Given the description of an element on the screen output the (x, y) to click on. 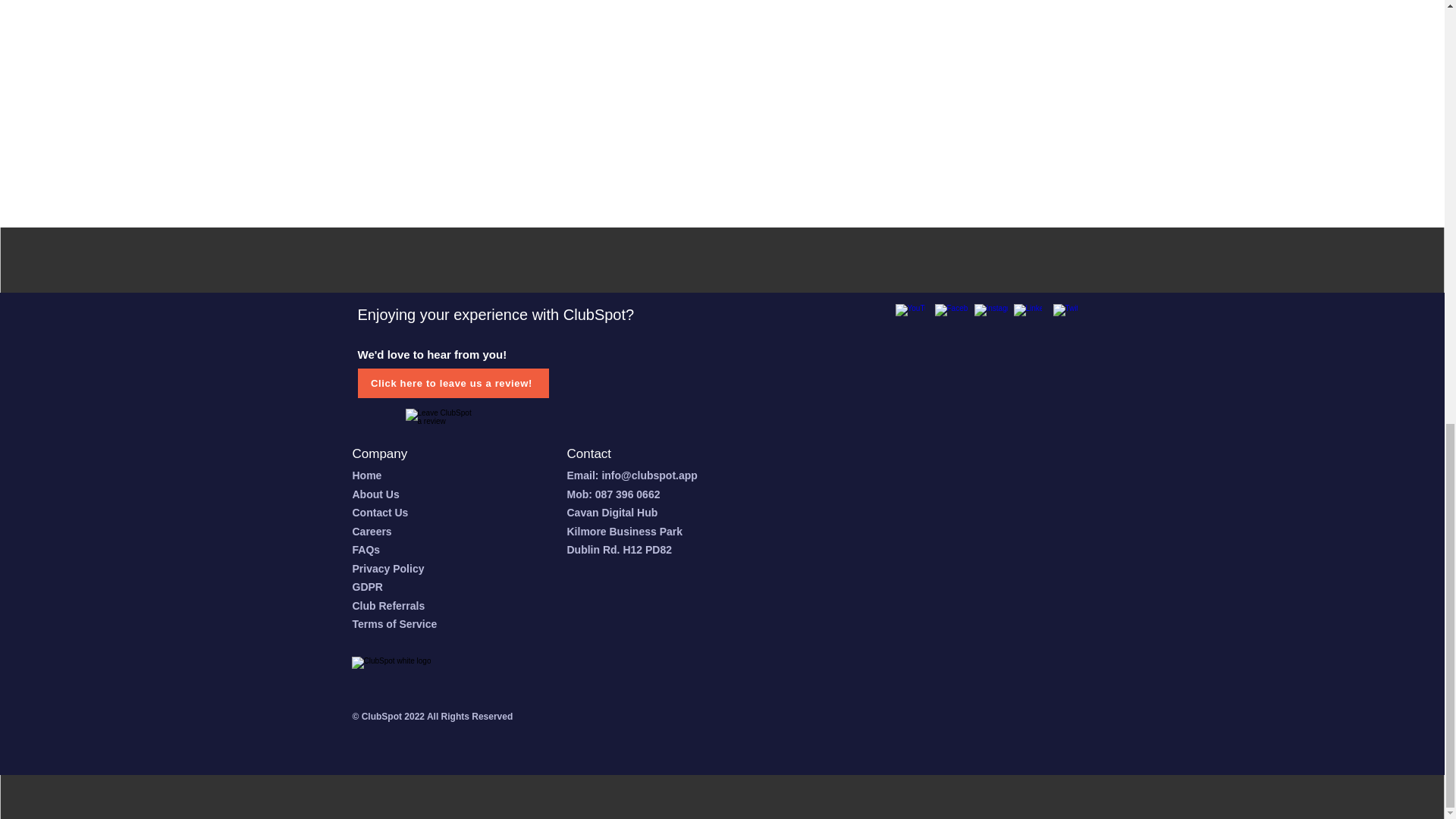
Terms of Service (394, 623)
Click here to leave us a review! (453, 383)
FAQs (366, 549)
GDPR (366, 586)
Careers (371, 531)
Club Referrals (388, 605)
About Us (375, 493)
Home (366, 475)
Privacy Policy (387, 567)
Contact Us (379, 512)
